Given the description of an element on the screen output the (x, y) to click on. 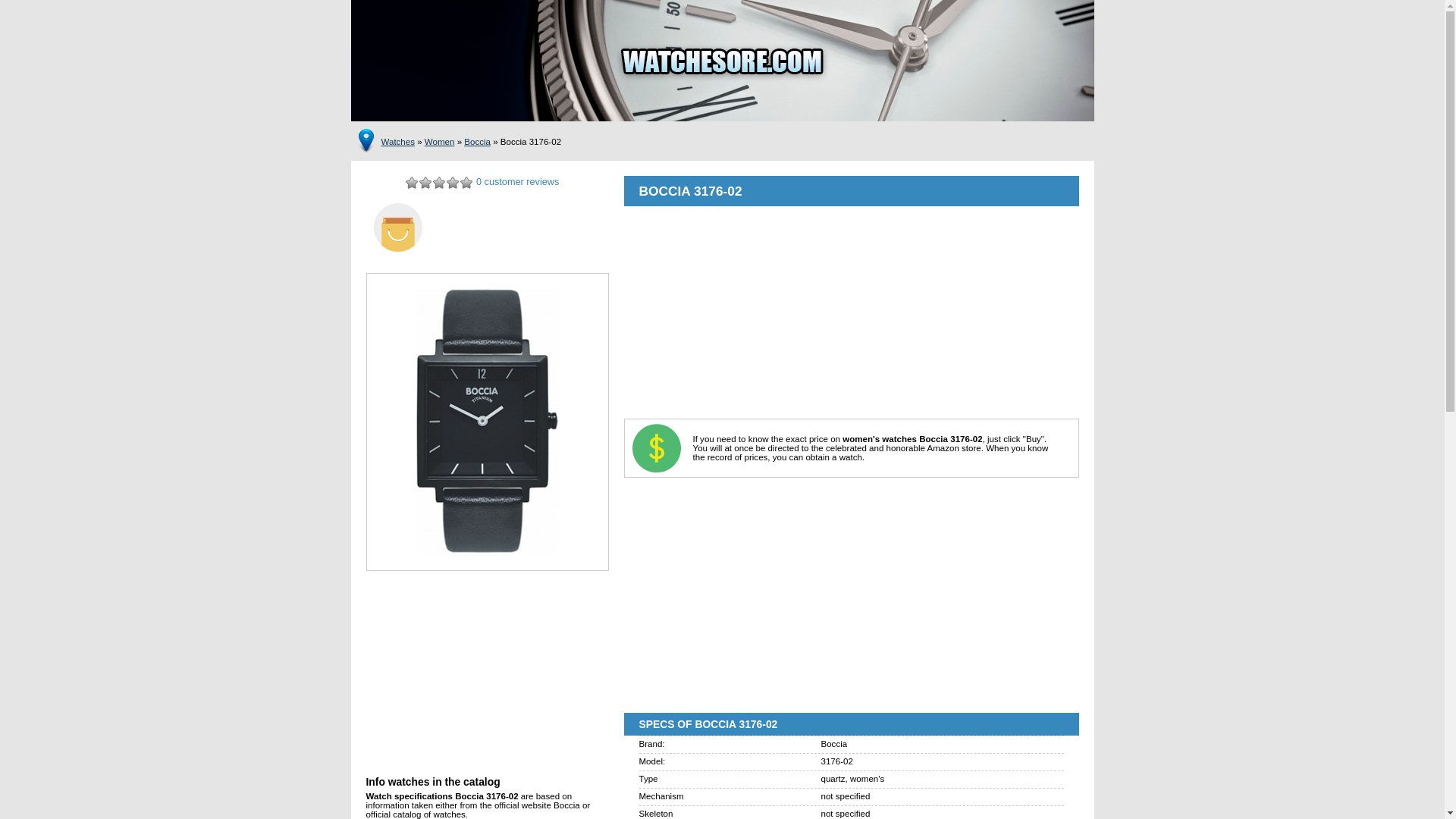
Advertisement (486, 680)
Advertisement (850, 312)
Watches (397, 141)
Boccia (477, 141)
Buy Boccia 3176-02 (486, 227)
Women (439, 141)
Advertisement (850, 591)
